Given the description of an element on the screen output the (x, y) to click on. 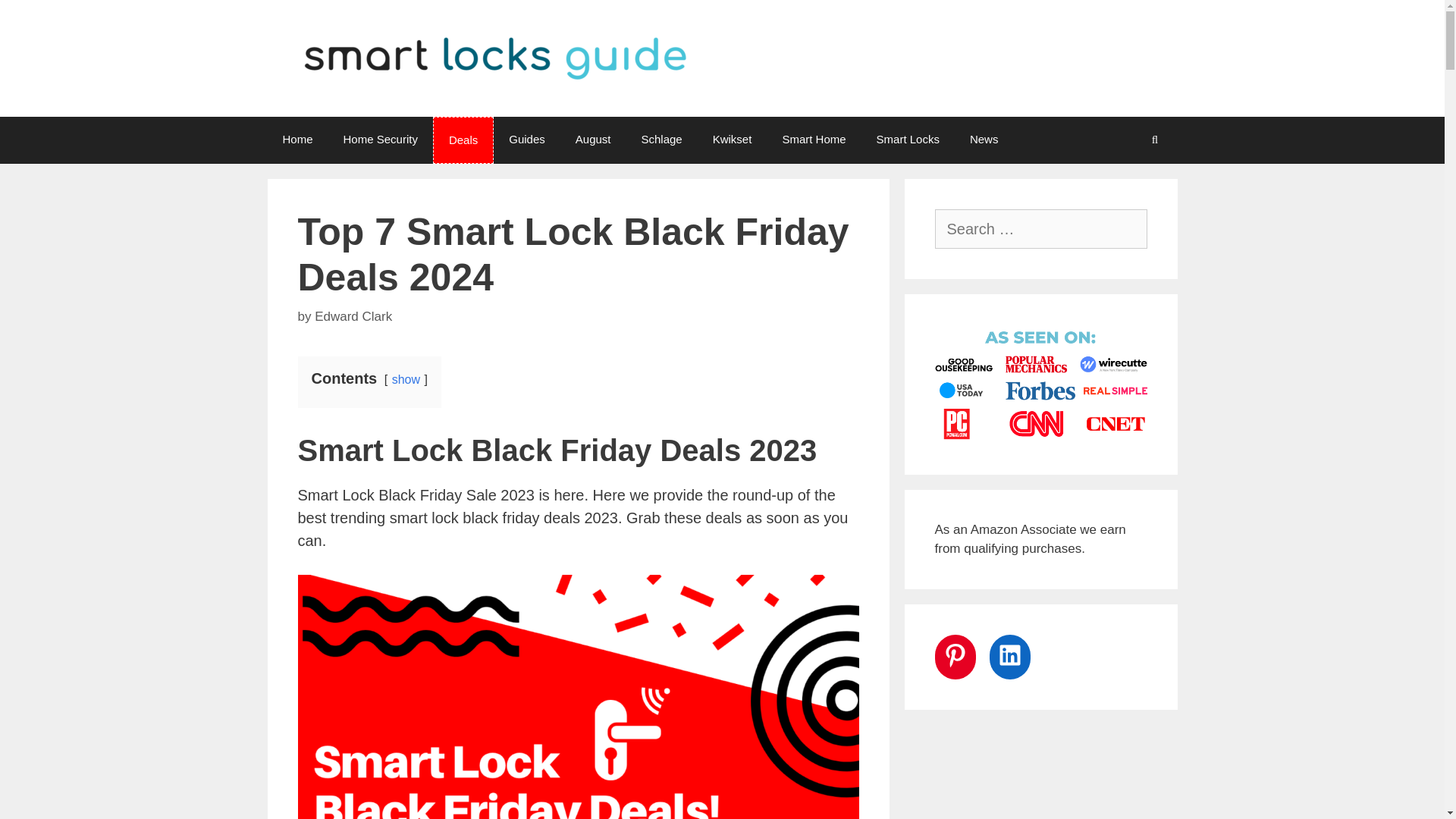
Guides (526, 139)
Home (296, 139)
Edward Clark (352, 316)
News (984, 139)
Smart Home (813, 139)
August (593, 139)
Schlage (661, 139)
Home Security (380, 139)
Smart Locks (908, 139)
Kwikset (732, 139)
View all posts by Edward Clark (352, 316)
Search for: (1040, 228)
show (405, 379)
Deals (463, 139)
